Given the description of an element on the screen output the (x, y) to click on. 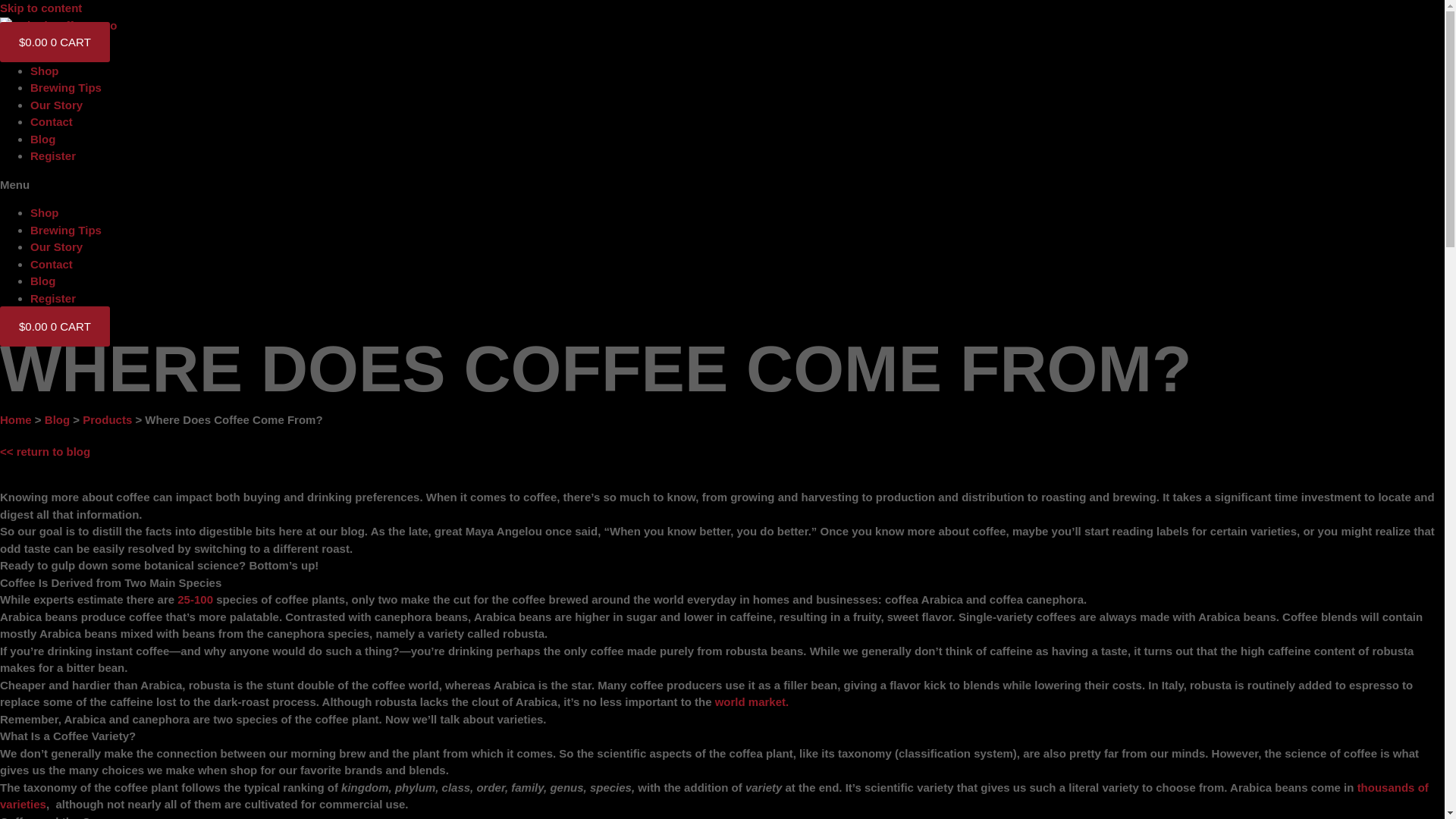
Blog (42, 280)
Skip to content (40, 7)
thousands of varieties (714, 796)
Register (52, 297)
Our Story (56, 246)
Skip to content (40, 7)
Register (52, 155)
Our Story (56, 104)
25-100  (196, 599)
Brewing Tips (65, 228)
Contact (51, 121)
world market. (751, 701)
Home (16, 419)
Contact (51, 264)
Blog (42, 137)
